Given the description of an element on the screen output the (x, y) to click on. 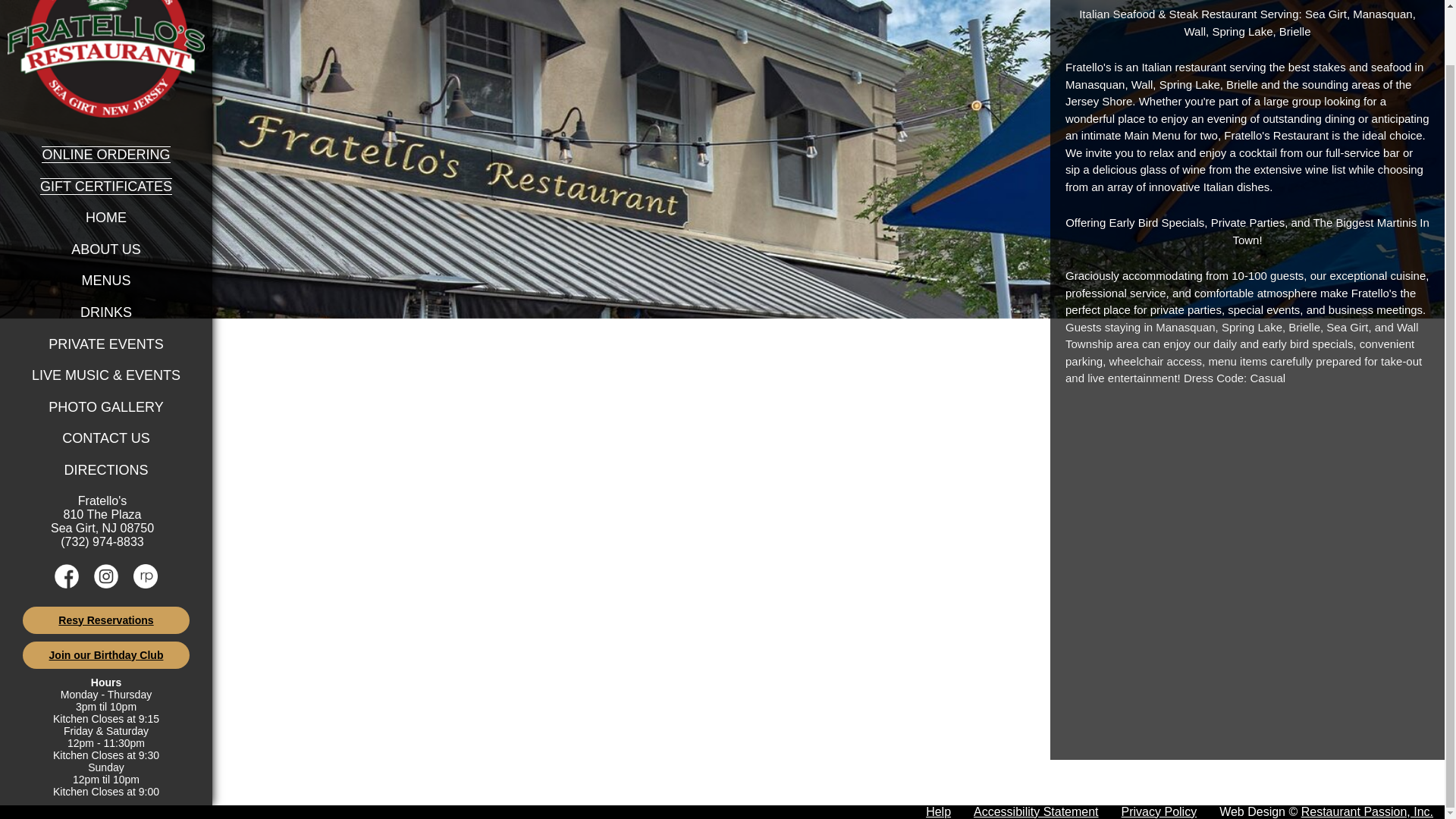
PRIVATE EVENTS (105, 344)
CONTACT US (105, 437)
MENUS (106, 280)
Join our Birthday Club (106, 655)
Visit Our Facebook Page (66, 584)
Resy Reservations (106, 619)
Visit Our RestaurantPassion Page (145, 584)
DIRECTIONS (106, 469)
Help (938, 811)
DRINKS (106, 312)
